Given the description of an element on the screen output the (x, y) to click on. 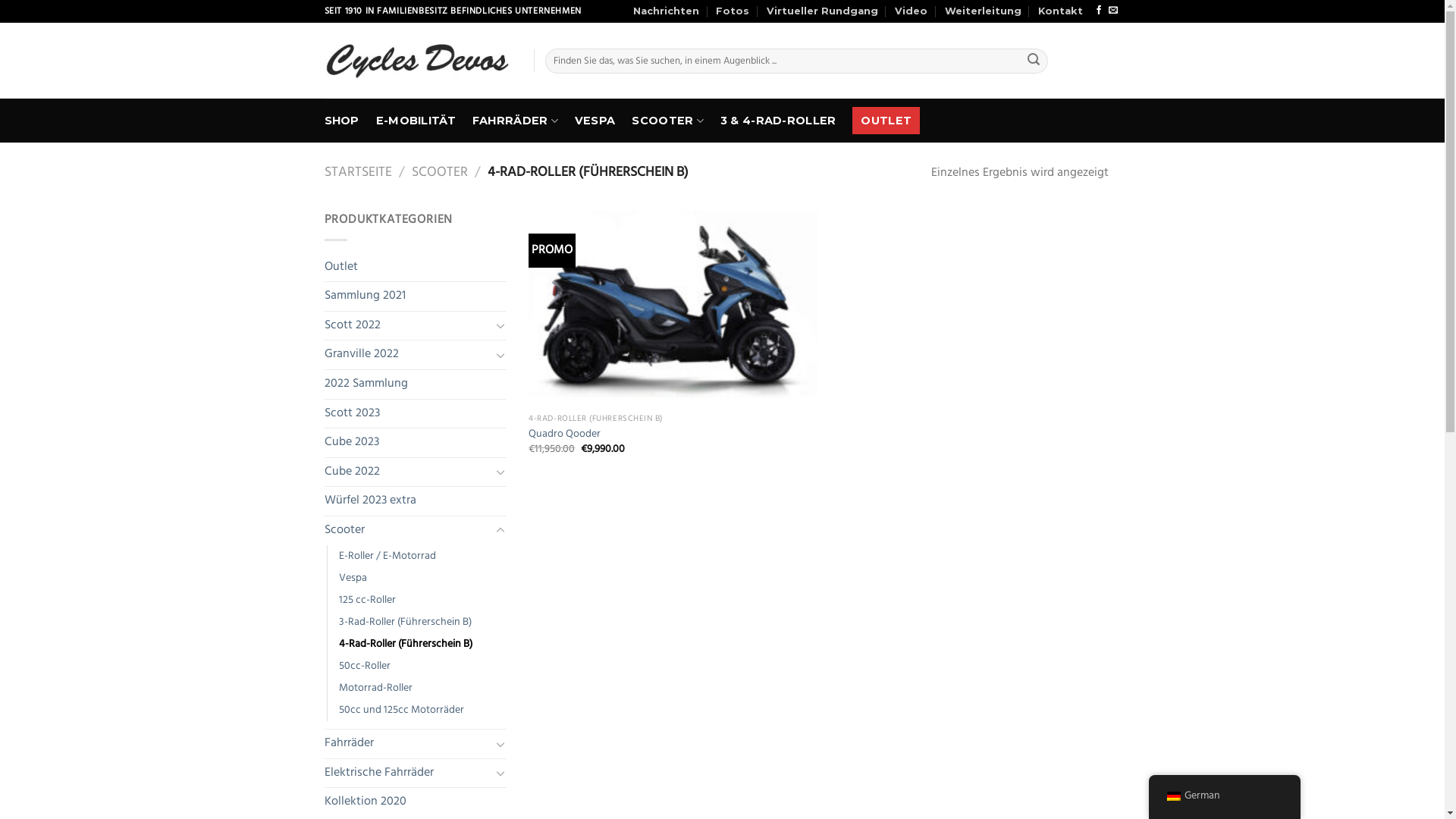
Virtueller Rundgang Element type: text (822, 11)
SCOOTER Element type: text (667, 120)
Sammlung 2021 Element type: text (415, 296)
Sende uns eine email Element type: hover (1112, 10)
Motorrad-Roller Element type: text (374, 688)
Scott 2022 Element type: text (407, 325)
Folge uns auf Facebook Element type: hover (1098, 10)
Video Element type: text (910, 11)
Cube 2022 Element type: text (407, 472)
Scott 2023 Element type: text (415, 413)
STARTSEITE Element type: text (358, 172)
E-Roller / E-Motorrad Element type: text (386, 556)
Granville 2022 Element type: text (407, 354)
German Element type: hover (1172, 795)
SHOP Element type: text (341, 120)
Zum Inhalt springen Element type: text (0, 0)
OUTLET Element type: text (885, 120)
Cube 2023 Element type: text (415, 442)
German Element type: text (1223, 795)
Vespa Element type: text (352, 578)
VESPA Element type: text (594, 120)
3 & 4-RAD-ROLLER Element type: text (778, 120)
Quadro Qooder Element type: text (564, 434)
Suche Element type: text (1033, 61)
125 cc-Roller Element type: text (366, 600)
Kontakt Element type: text (1060, 11)
Kollektion 2020 Element type: text (415, 801)
Cycles Devos - Familienunternehmen seit 1910 Element type: hover (417, 60)
SCOOTER Element type: text (439, 172)
Nachrichten Element type: text (666, 11)
50cc-Roller Element type: text (363, 666)
Outlet Element type: text (415, 267)
Weiterleitung Element type: text (982, 11)
Scooter Element type: text (407, 530)
Fotos Element type: text (732, 11)
2022 Sammlung Element type: text (415, 384)
